Given the description of an element on the screen output the (x, y) to click on. 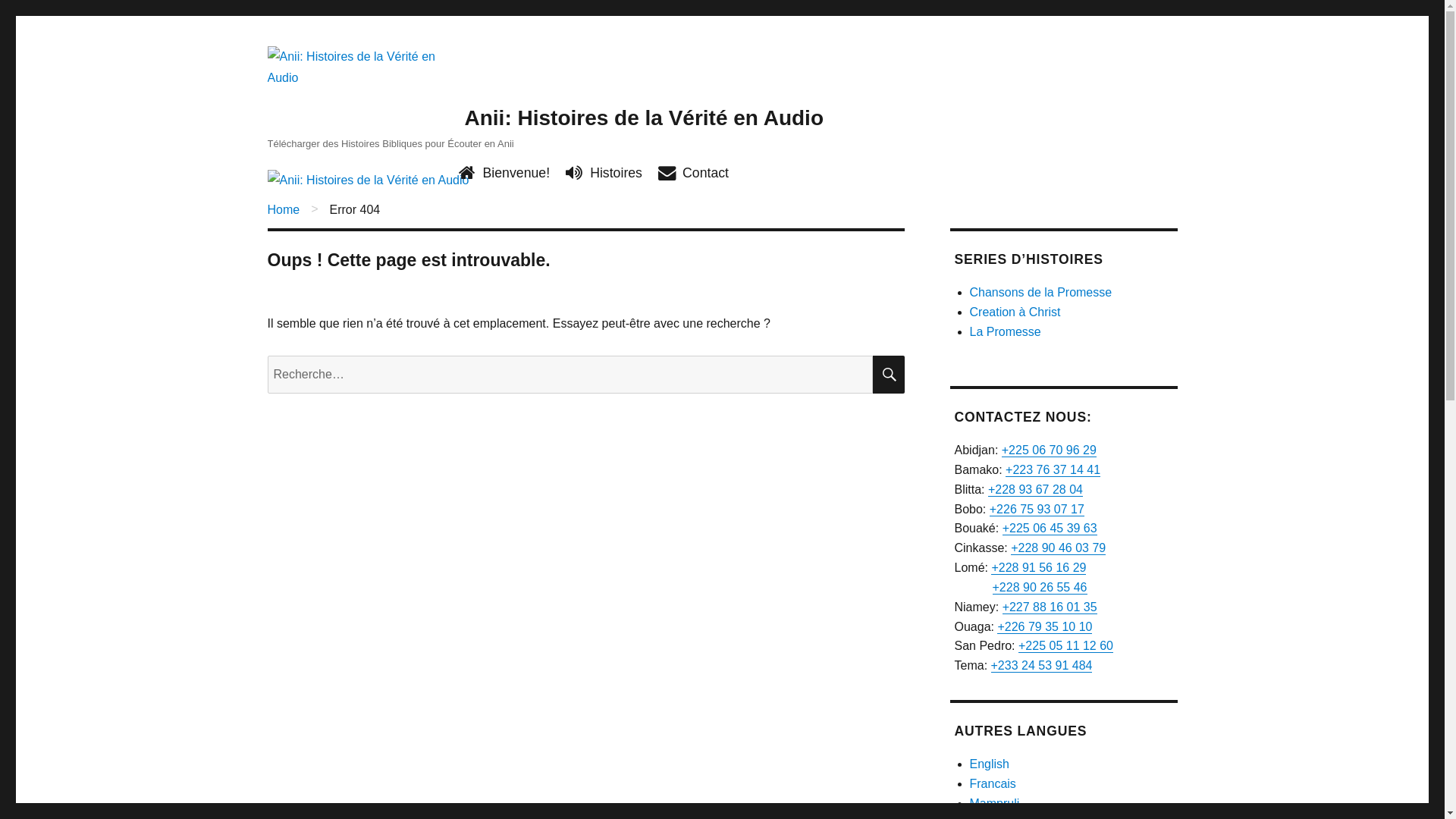
Contact Element type: text (701, 172)
Mampruli Element type: text (994, 803)
RECHERCHE Element type: text (887, 374)
La Promesse Element type: text (1004, 331)
+226 79 35 10 10 Element type: text (1044, 626)
+228 90 26 55 46 Element type: text (1038, 586)
+225 06 45 39 63 Element type: text (1049, 527)
+228 93 67 28 04 Element type: text (1035, 489)
Histoires Element type: text (611, 172)
+225 05 11 12 60 Element type: text (1065, 645)
+223 76 37 14 41 Element type: text (1052, 469)
+233 24 53 91 484 Element type: text (1041, 664)
+228 91 56 16 29 Element type: text (1038, 567)
Chansons de la Promesse Element type: text (1040, 291)
+226 75 93 07 17 Element type: text (1036, 508)
Home Element type: text (282, 209)
+227 88 16 01 35 Element type: text (1049, 606)
+228 90 46 03 79 Element type: text (1057, 547)
Bienvenue! Element type: text (512, 172)
English Element type: text (988, 763)
Francais Element type: text (992, 783)
+225 06 70 96 29 Element type: text (1048, 449)
